Given the description of an element on the screen output the (x, y) to click on. 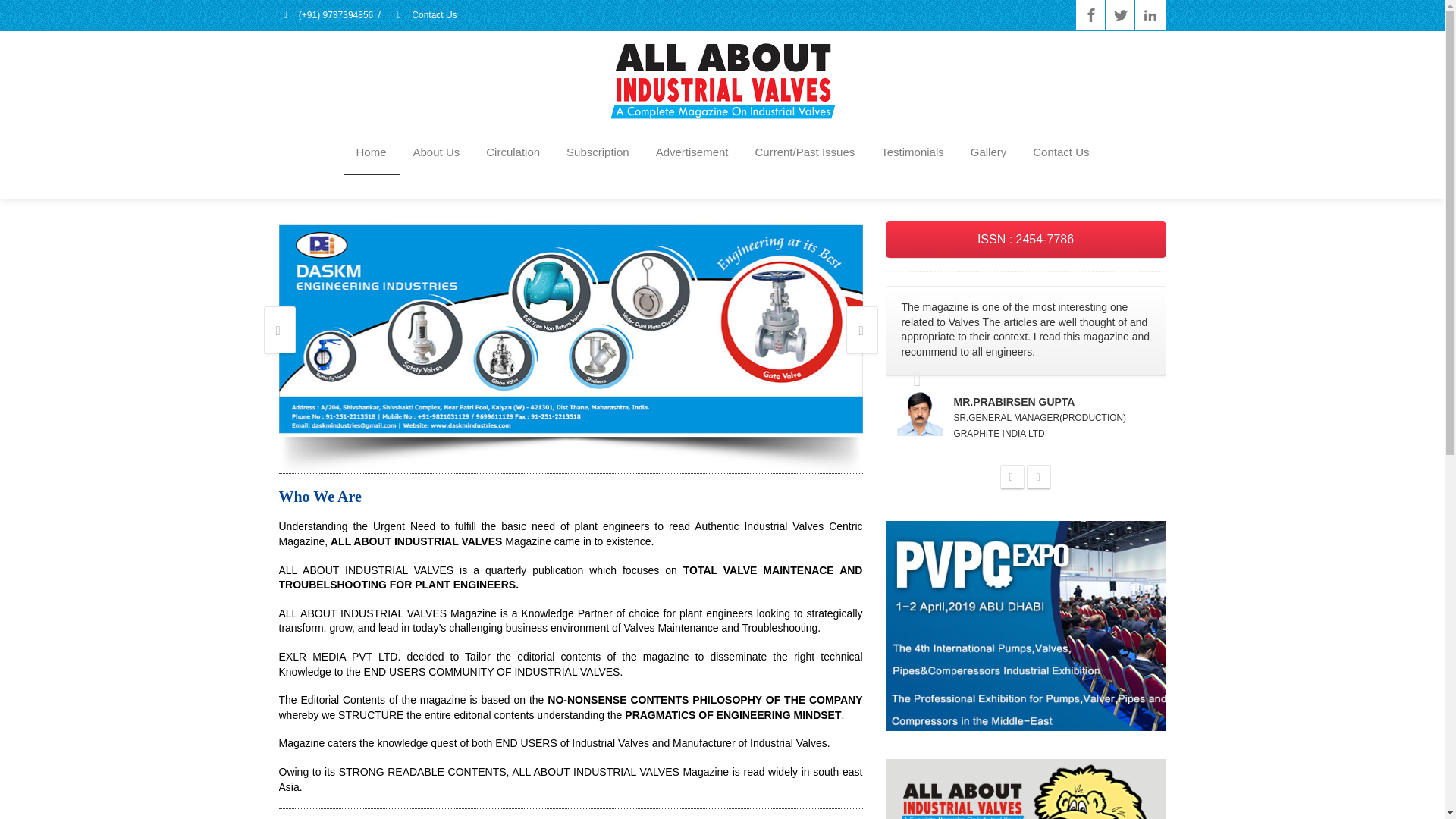
Gallery (989, 153)
Testimonials (911, 153)
Linkedin (1149, 15)
Subscription (597, 153)
Twitter (1120, 15)
About Us (436, 153)
Advertisement (692, 153)
Contact Us (424, 14)
ISSN : 2454-7786 (1025, 239)
ISSN :  2454-7786 (1025, 239)
Contact Us (1061, 153)
Facebook (1090, 15)
Circulation (513, 153)
Home (370, 153)
